Given the description of an element on the screen output the (x, y) to click on. 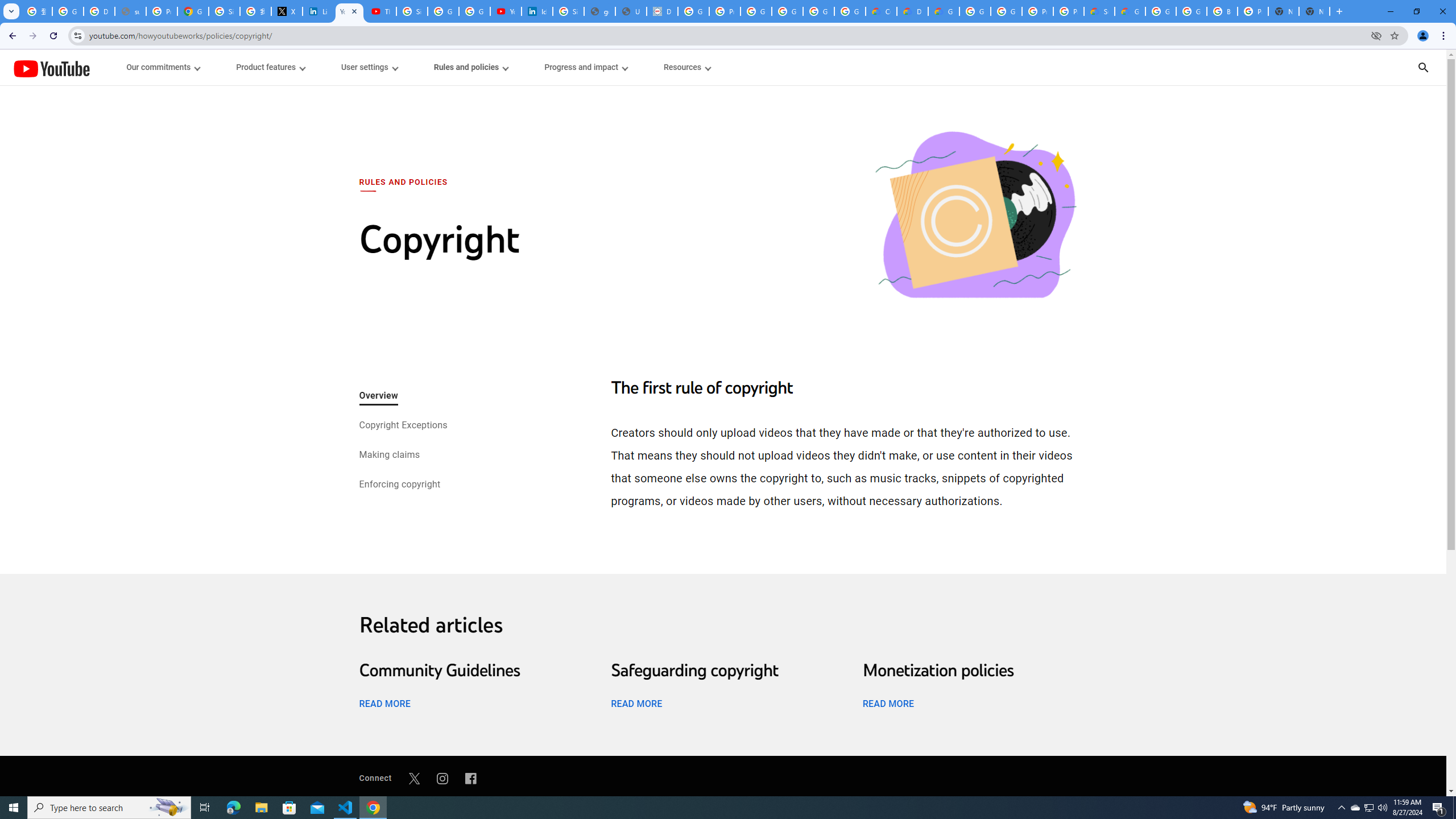
Resources menupopup (686, 67)
Bookmark this tab (1393, 35)
JUMP TO CONTENT (118, 67)
Forward (32, 35)
How YouTube Works (51, 66)
Sign in - Google Accounts (223, 11)
Chrome (1445, 35)
New Tab (1338, 11)
Data Privacy Framework (662, 11)
YouTube Copyright Rules & Policies - How YouTube Works (349, 11)
User Details (631, 11)
